Given the description of an element on the screen output the (x, y) to click on. 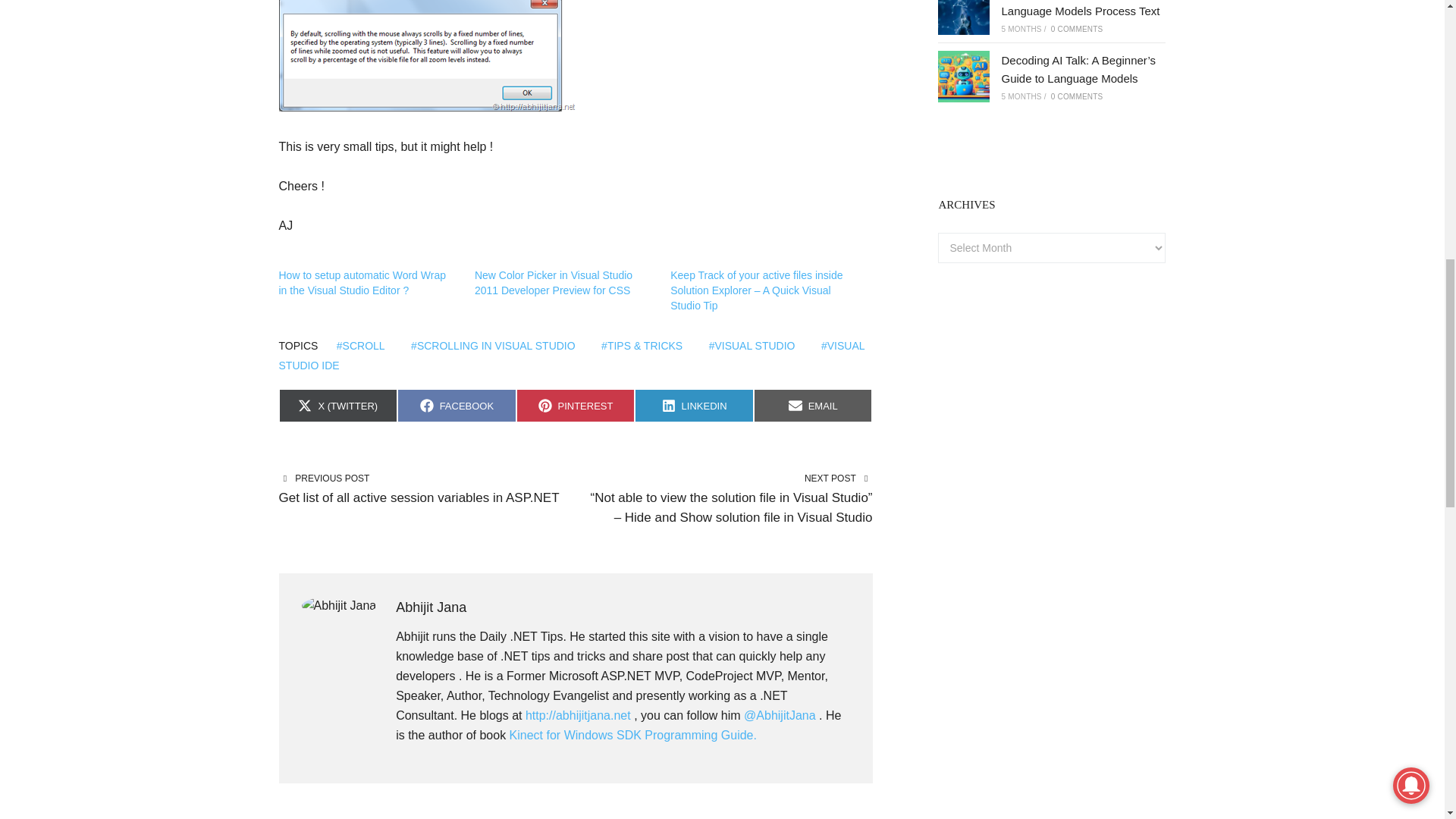
image (427, 55)
From Input to Output: How AI Language Models Process Text (963, 17)
From Input to Output: How AI Language Models Process Text (1079, 8)
